Given the description of an element on the screen output the (x, y) to click on. 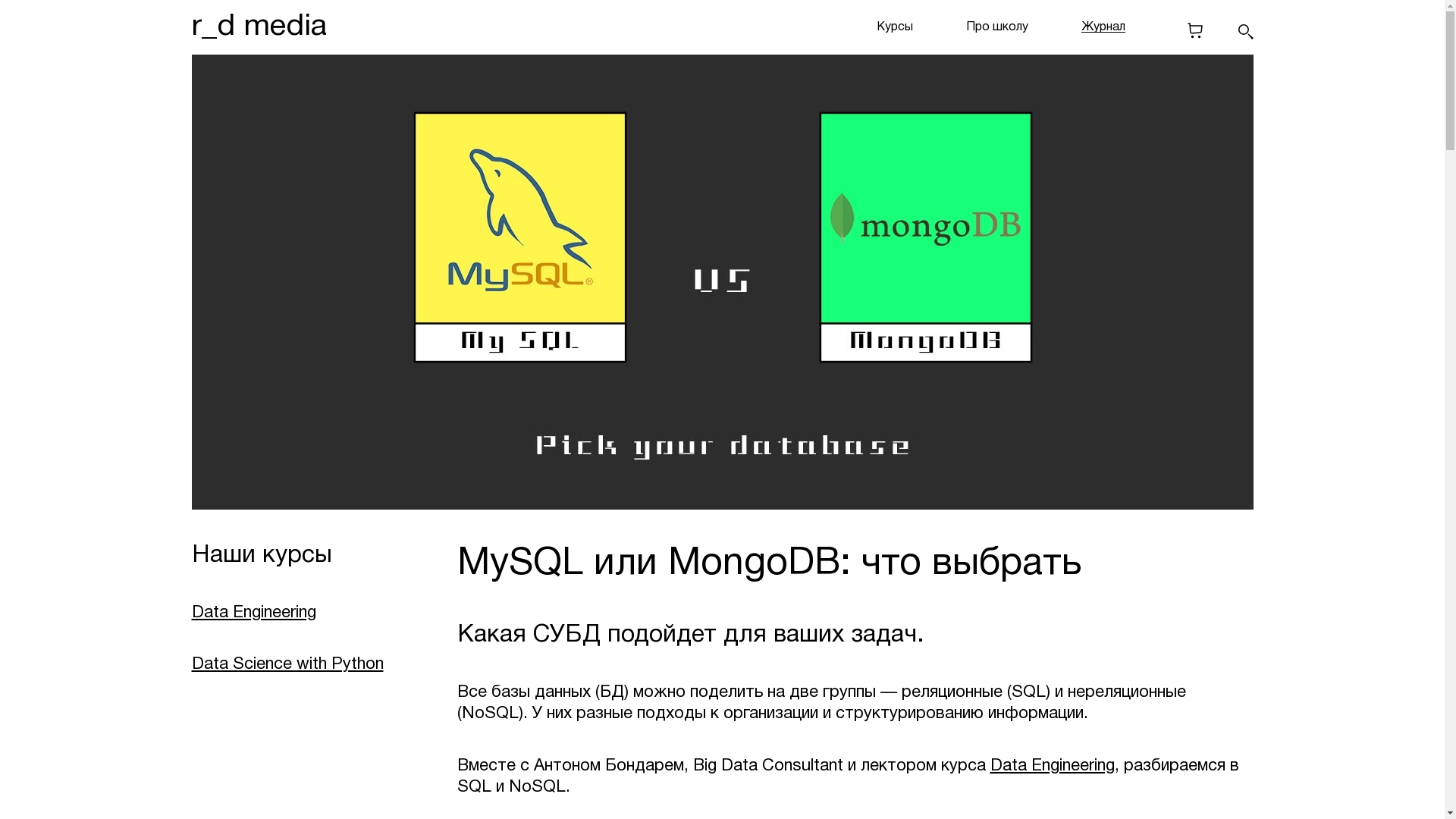
Data Science with Python Element type: text (286, 663)
Data Engineering Element type: text (1052, 765)
Data Engineering Element type: text (253, 612)
r_d Element type: text (212, 26)
